Given the description of an element on the screen output the (x, y) to click on. 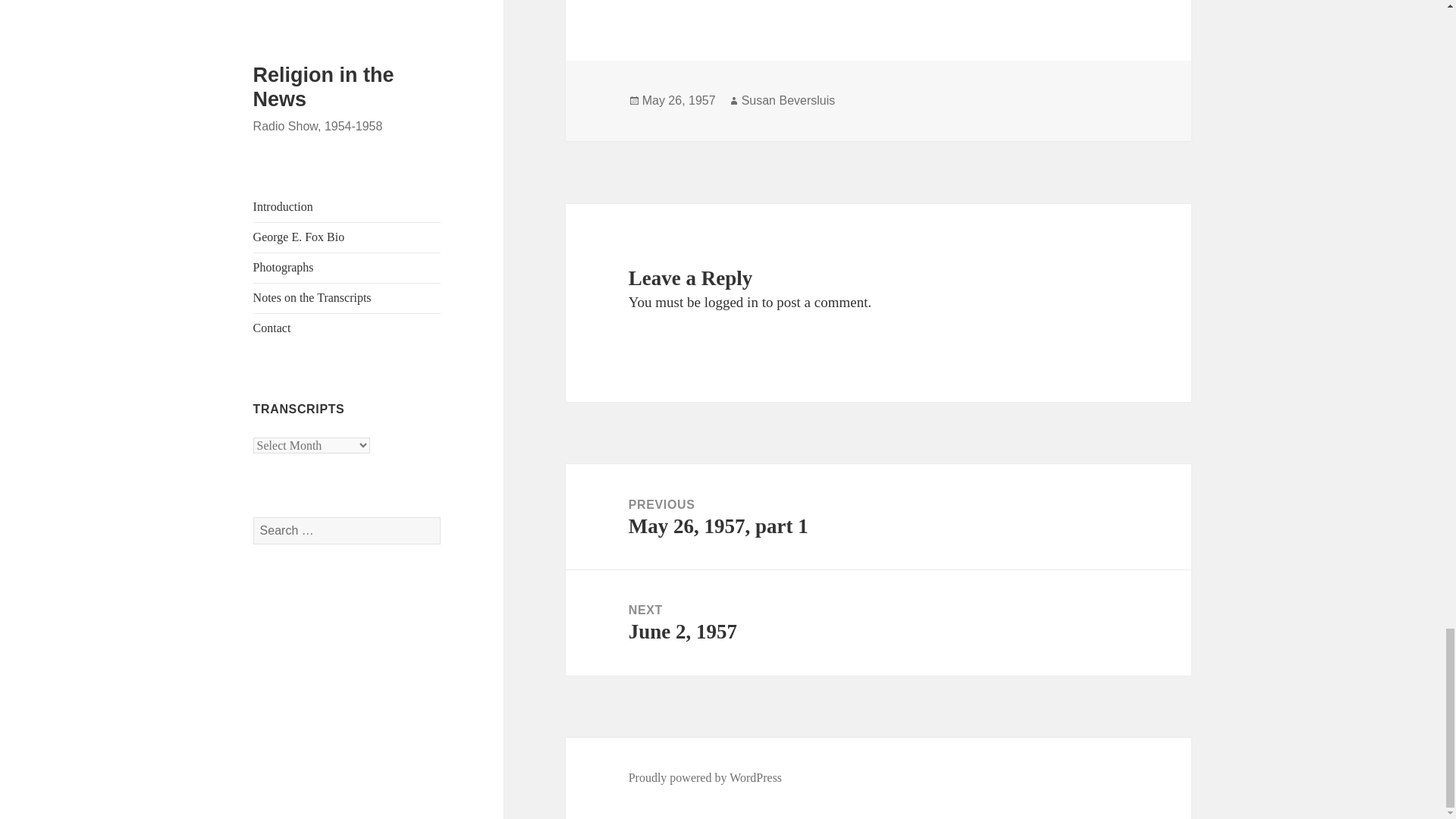
Susan Beversluis (788, 100)
logged in (731, 302)
Proudly powered by WordPress (878, 622)
May 26, 1957 (704, 777)
